Given the description of an element on the screen output the (x, y) to click on. 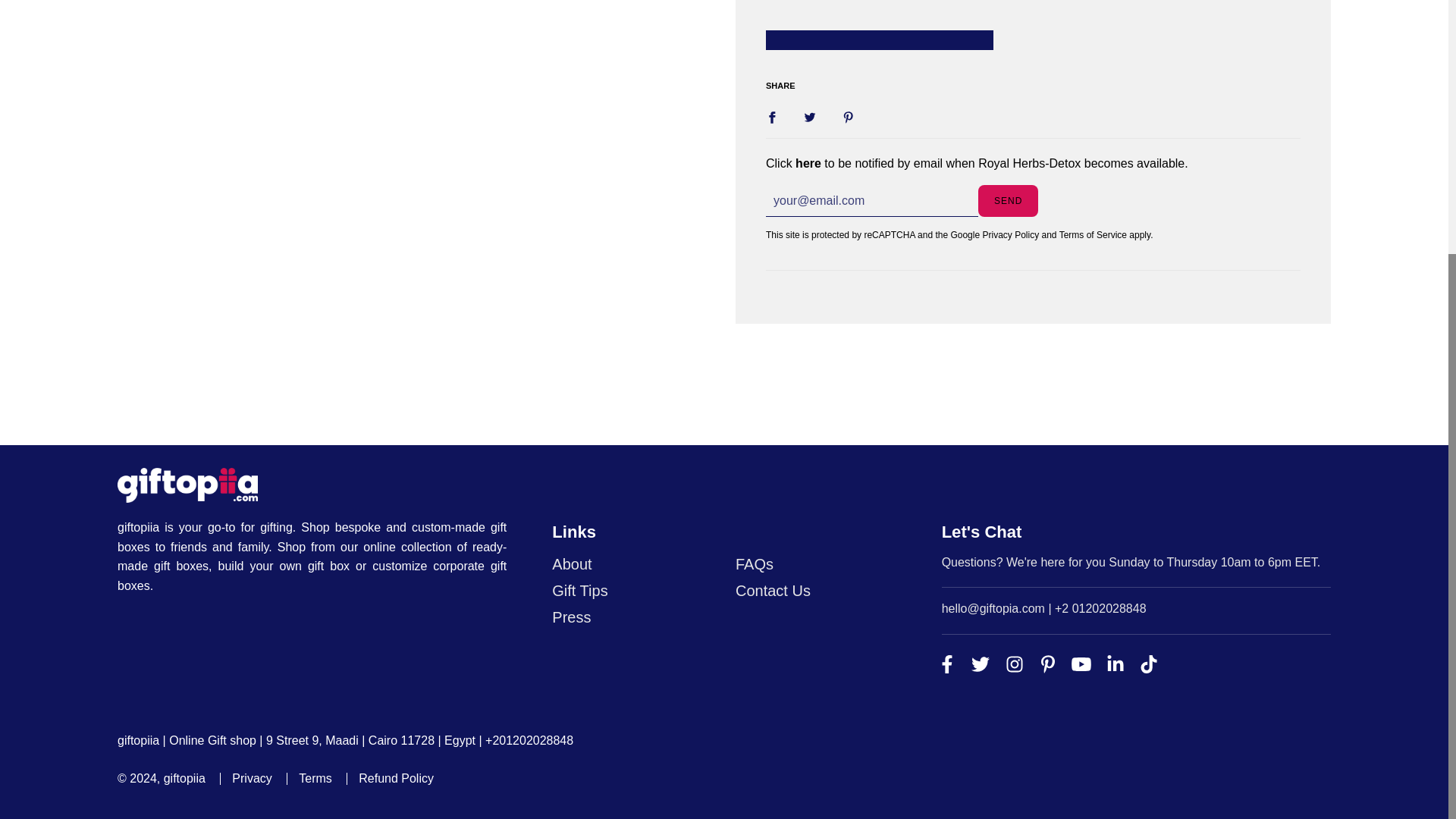
LOADING... (878, 39)
Send (1008, 201)
